Given the description of an element on the screen output the (x, y) to click on. 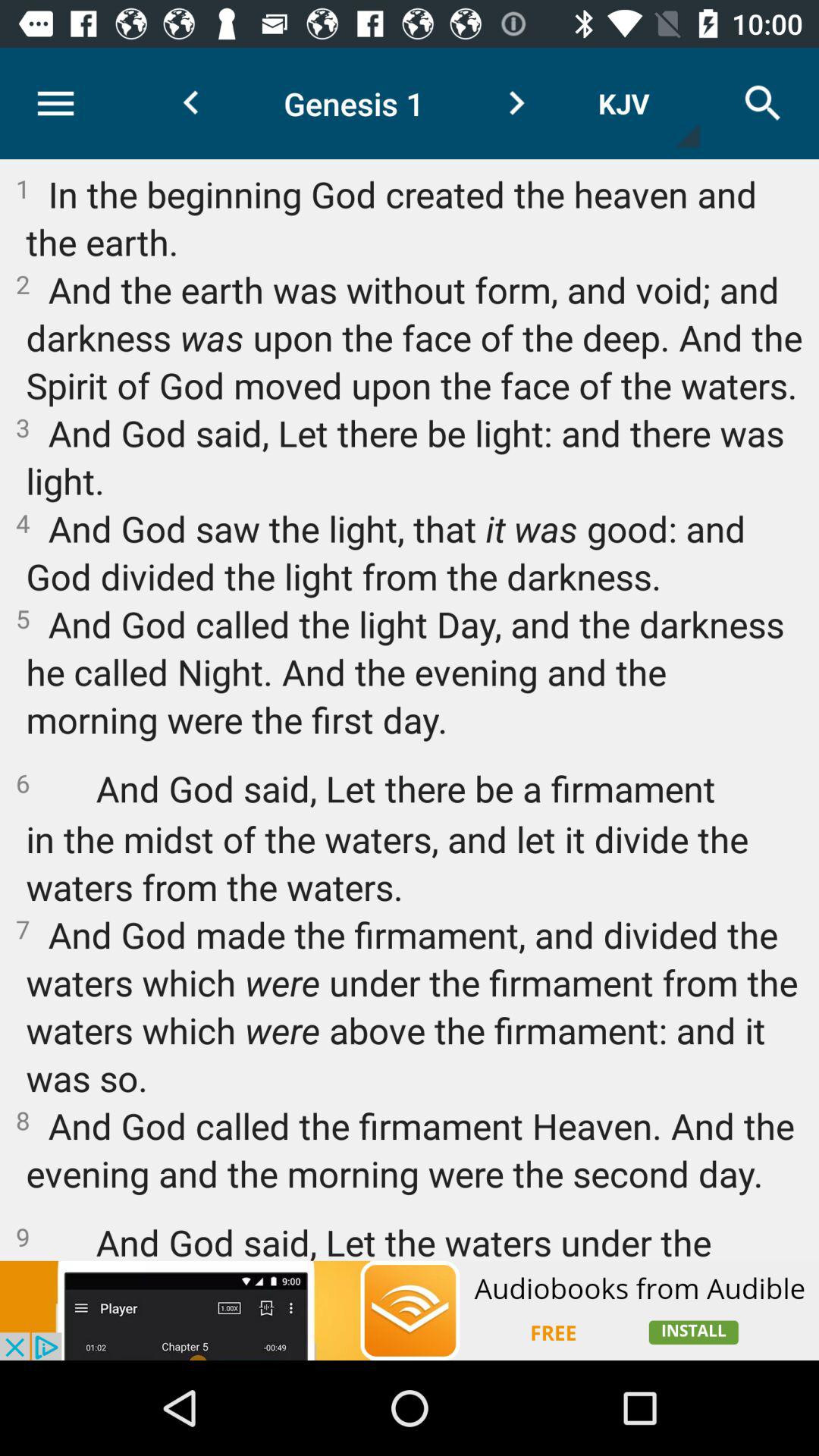
open (409, 1310)
